Given the description of an element on the screen output the (x, y) to click on. 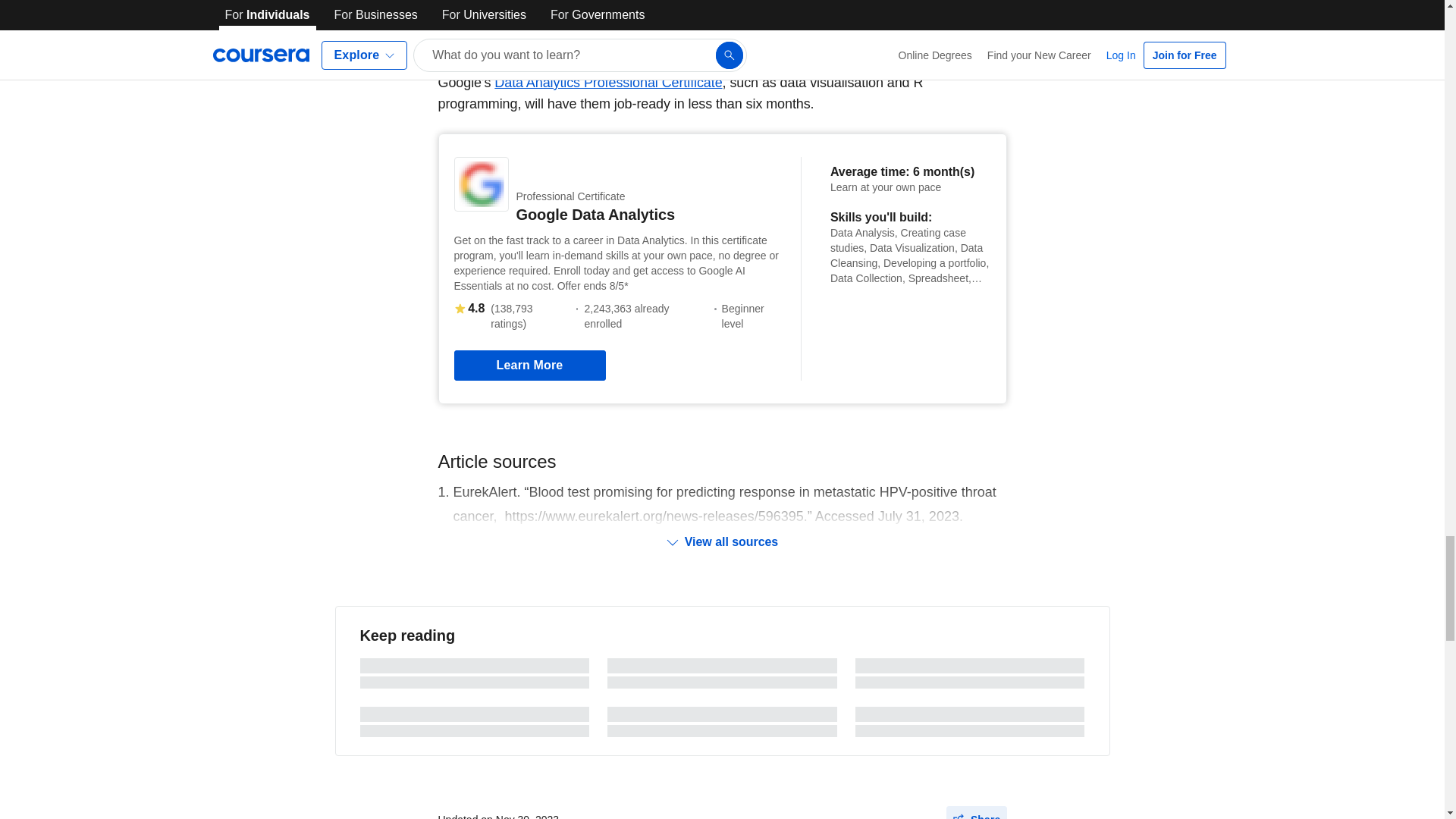
Data Analytics Professional Certificate (608, 82)
Share (976, 812)
Learn More (528, 365)
View all sources (722, 542)
